Given the description of an element on the screen output the (x, y) to click on. 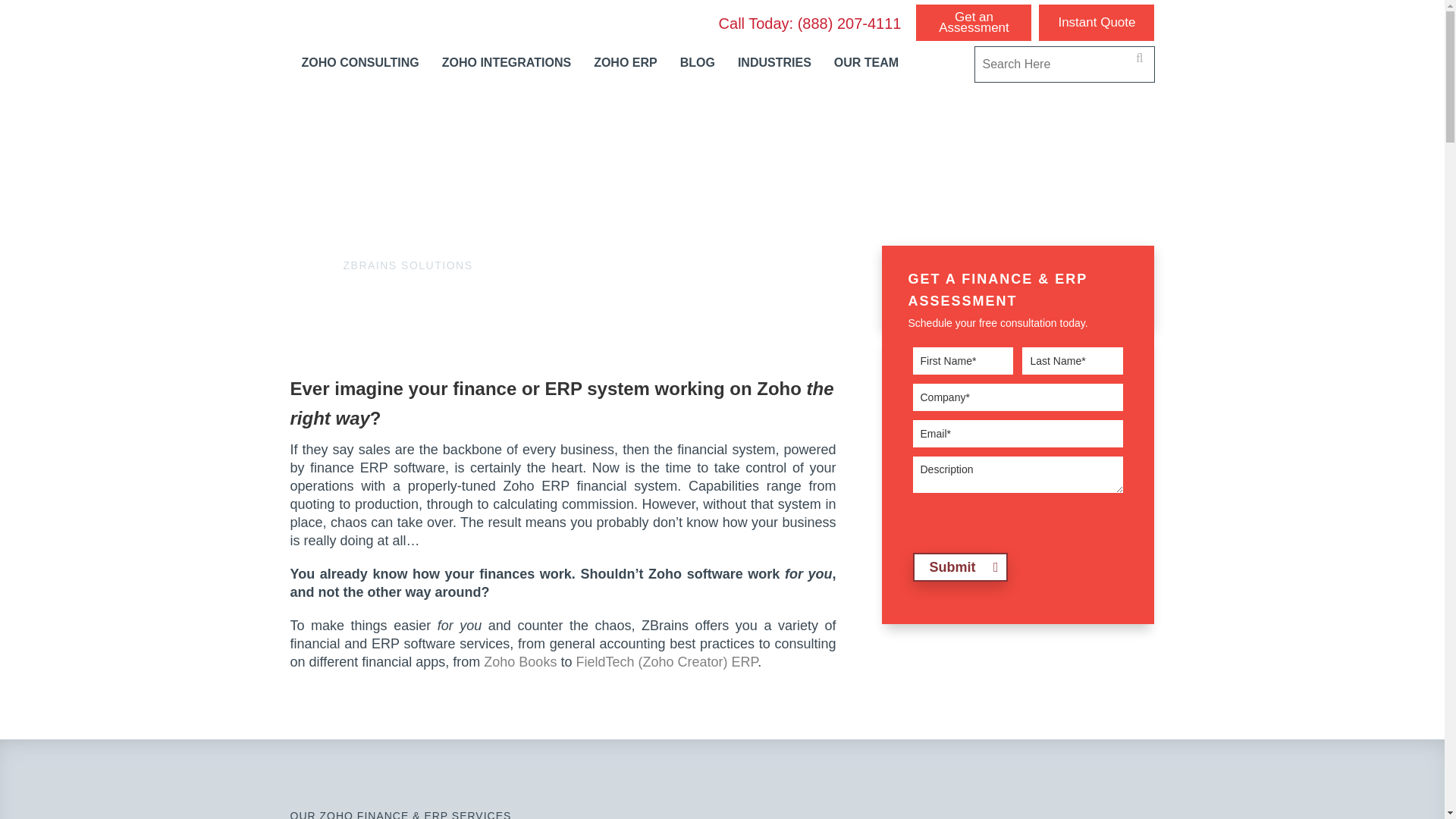
Get an Assessment (972, 22)
INDUSTRIES (774, 62)
ZOHO INTEGRATIONS (506, 62)
Instant Quote (1096, 22)
ZOHO CONSULTING (359, 62)
BLOG (697, 62)
ZOHO ERP (625, 62)
Submit (960, 566)
